Given the description of an element on the screen output the (x, y) to click on. 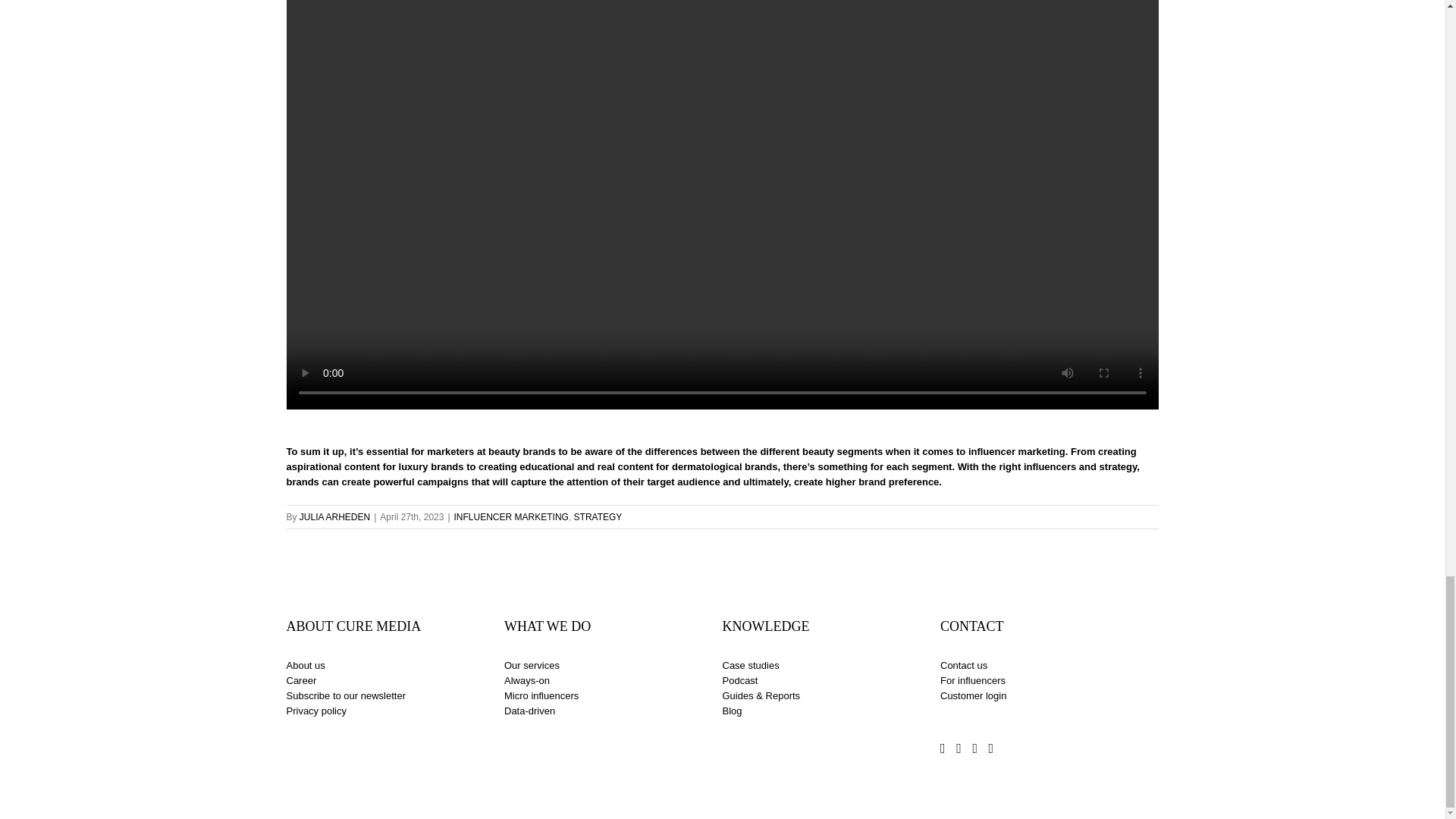
Posts by JULIA ARHEDEN (334, 516)
